Given the description of an element on the screen output the (x, y) to click on. 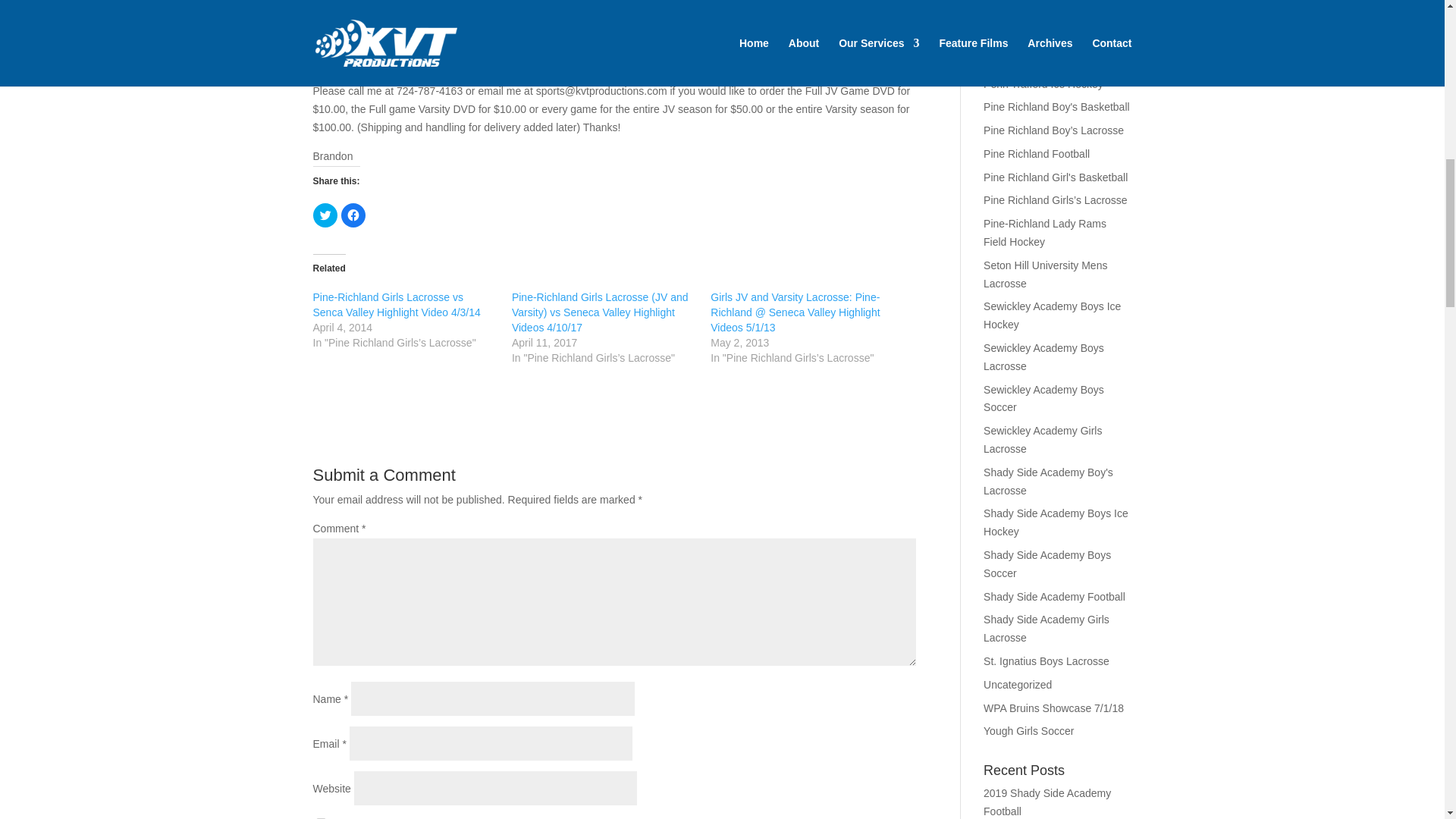
Click to share on Twitter (324, 215)
Click to share on Facebook (352, 215)
